Given the description of an element on the screen output the (x, y) to click on. 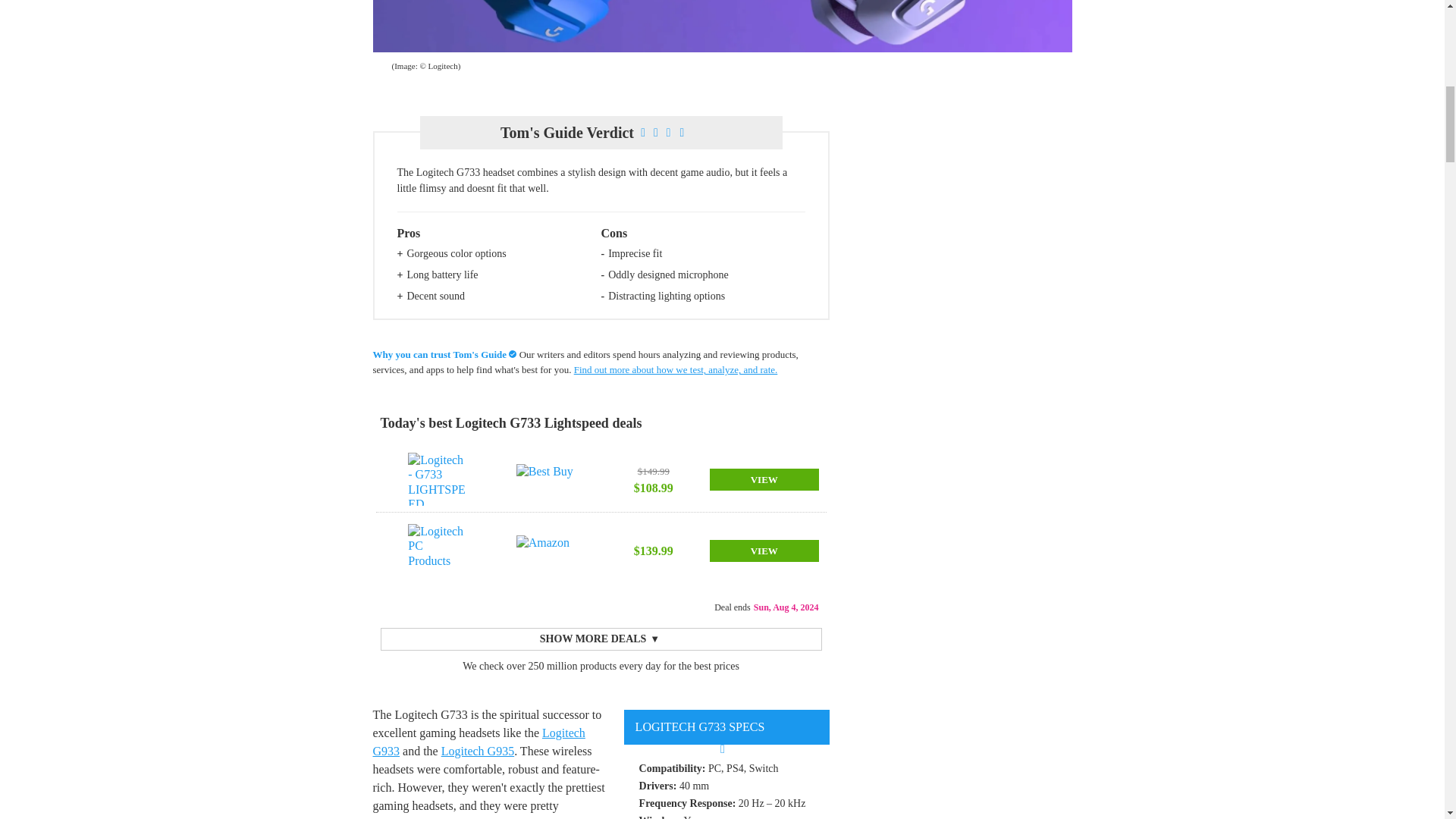
Amazon (546, 550)
Logitech - G733 LIGHTSPEED... (437, 479)
Best Buy (546, 479)
Logitech PC Products (437, 550)
